Given the description of an element on the screen output the (x, y) to click on. 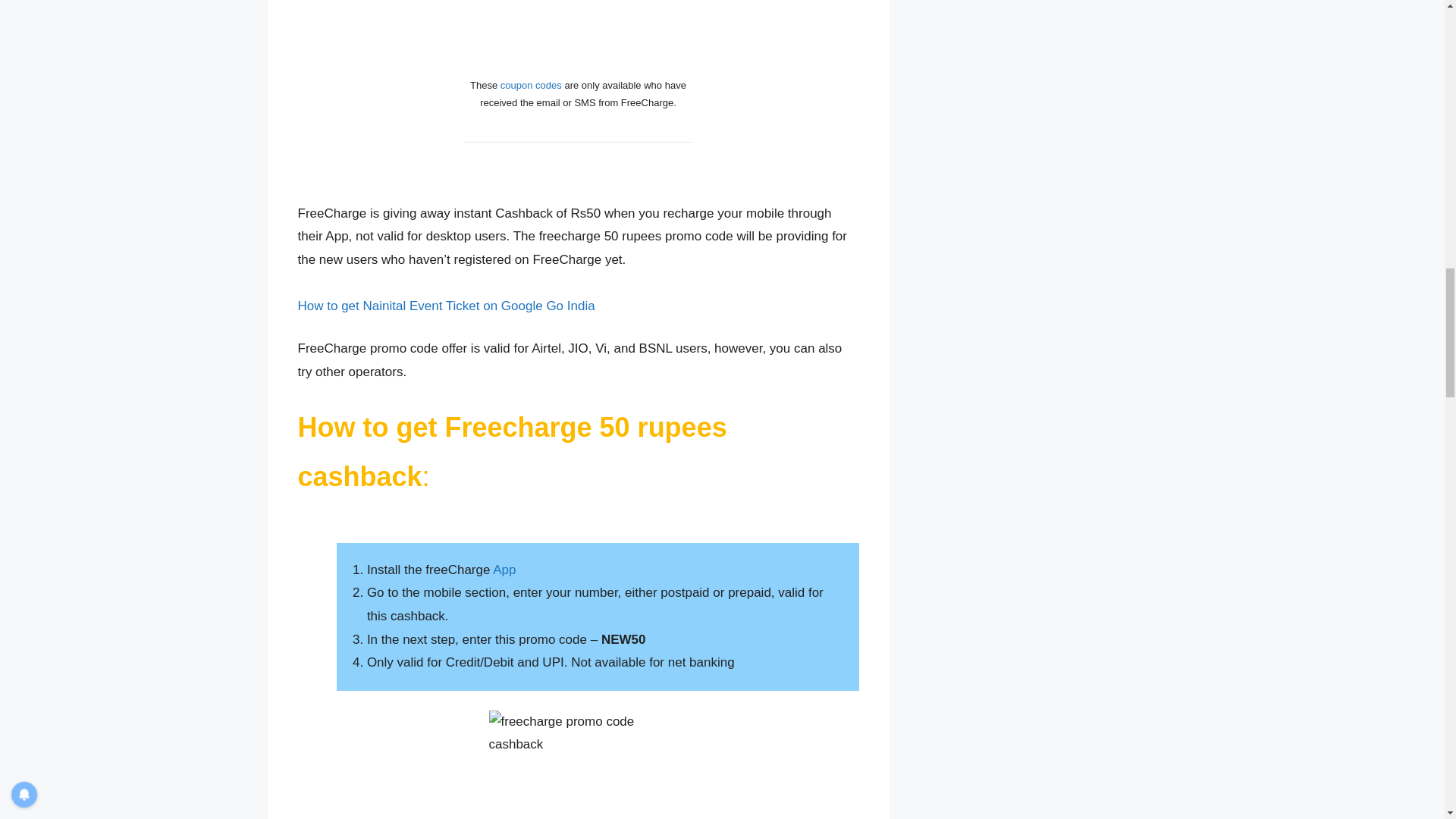
coupon codes (531, 84)
How to get Nainital Event Ticket on Google Go India (445, 305)
App (504, 569)
